Given the description of an element on the screen output the (x, y) to click on. 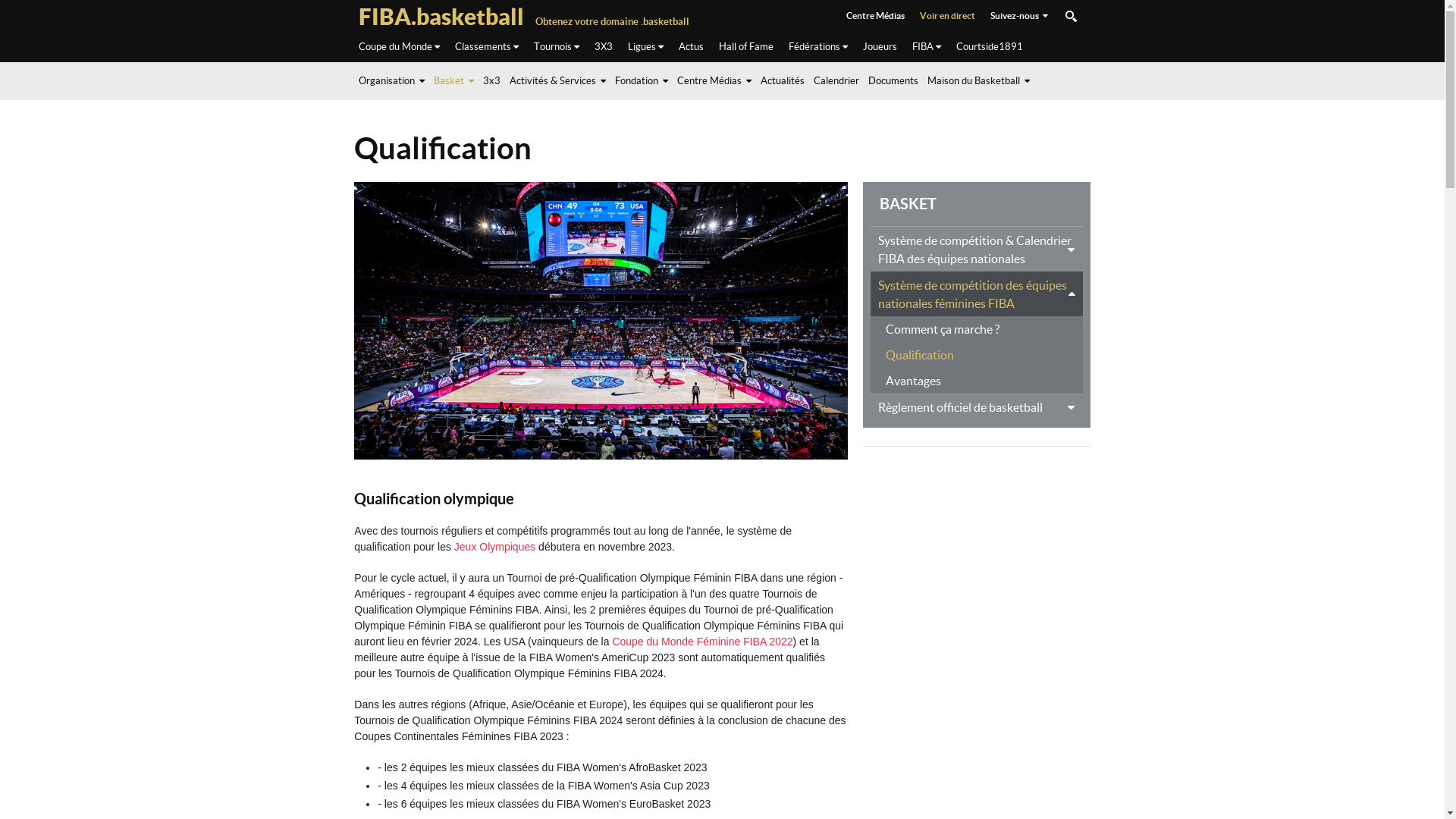
Hall of Fame Element type: text (745, 46)
Obtenez votre domaine .basketball Element type: text (612, 21)
3X3 Element type: text (603, 46)
FIBA.basketball Element type: text (440, 16)
Calendrier Element type: text (839, 79)
Documents Element type: text (896, 79)
Voir en direct Element type: text (946, 15)
Actus Element type: text (689, 46)
Qualification Element type: text (976, 354)
Avantages Element type: text (976, 379)
Courtside1891 Element type: text (988, 46)
3x3 Element type: text (495, 79)
Joueurs Element type: text (879, 46)
Jeux Olympiques Element type: text (494, 546)
